Given the description of an element on the screen output the (x, y) to click on. 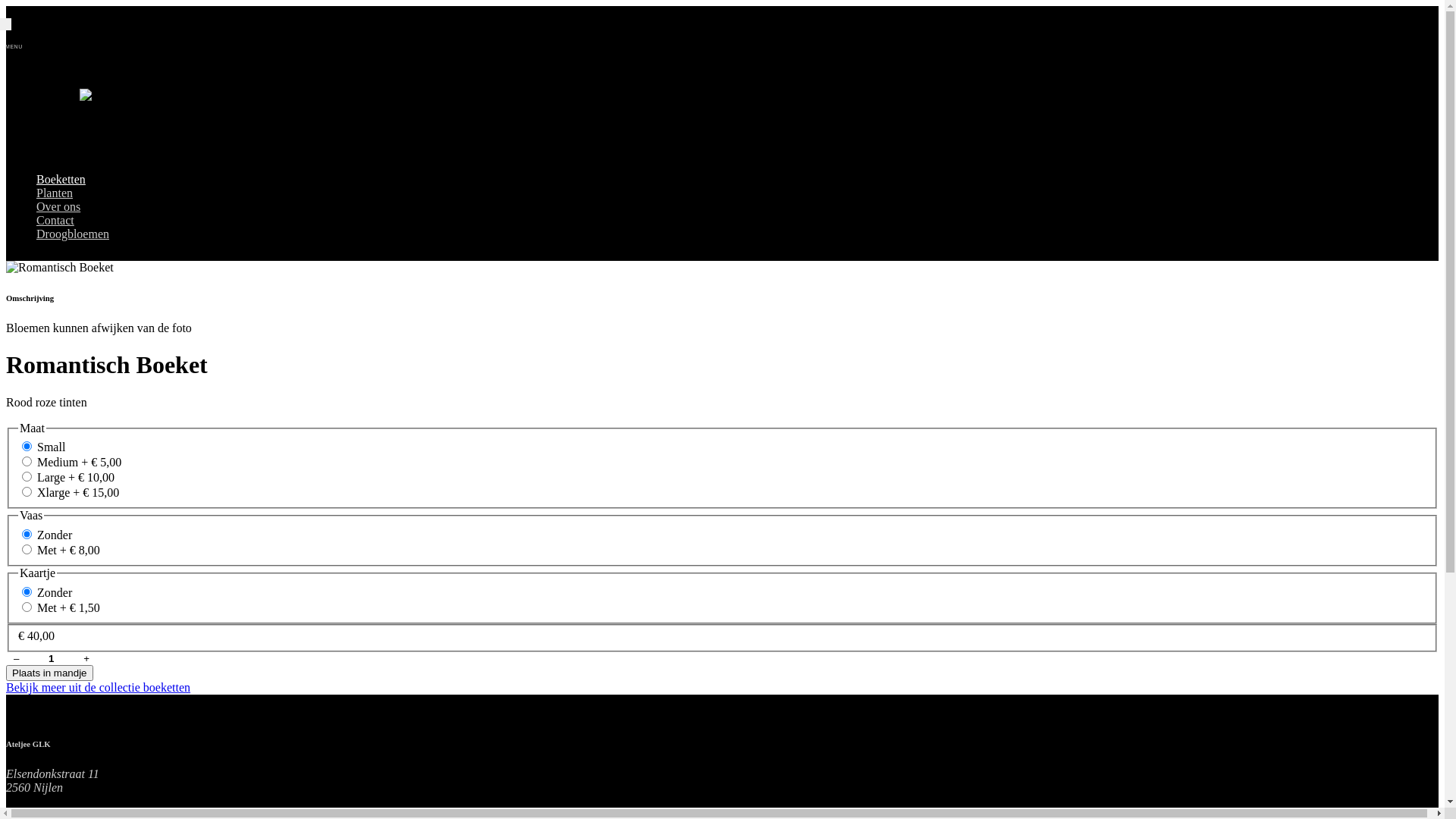
Plaats in mandje Element type: text (49, 672)
Bekijk meer uit de collectie boeketten Element type: text (98, 686)
Droogbloemen Element type: text (72, 233)
Romantisch Boeket Element type: hover (59, 267)
Boeketten Element type: text (60, 178)
+ Element type: text (86, 658)
Contact Element type: text (55, 219)
Planten Element type: text (54, 192)
Over ons Element type: text (58, 206)
